Given the description of an element on the screen output the (x, y) to click on. 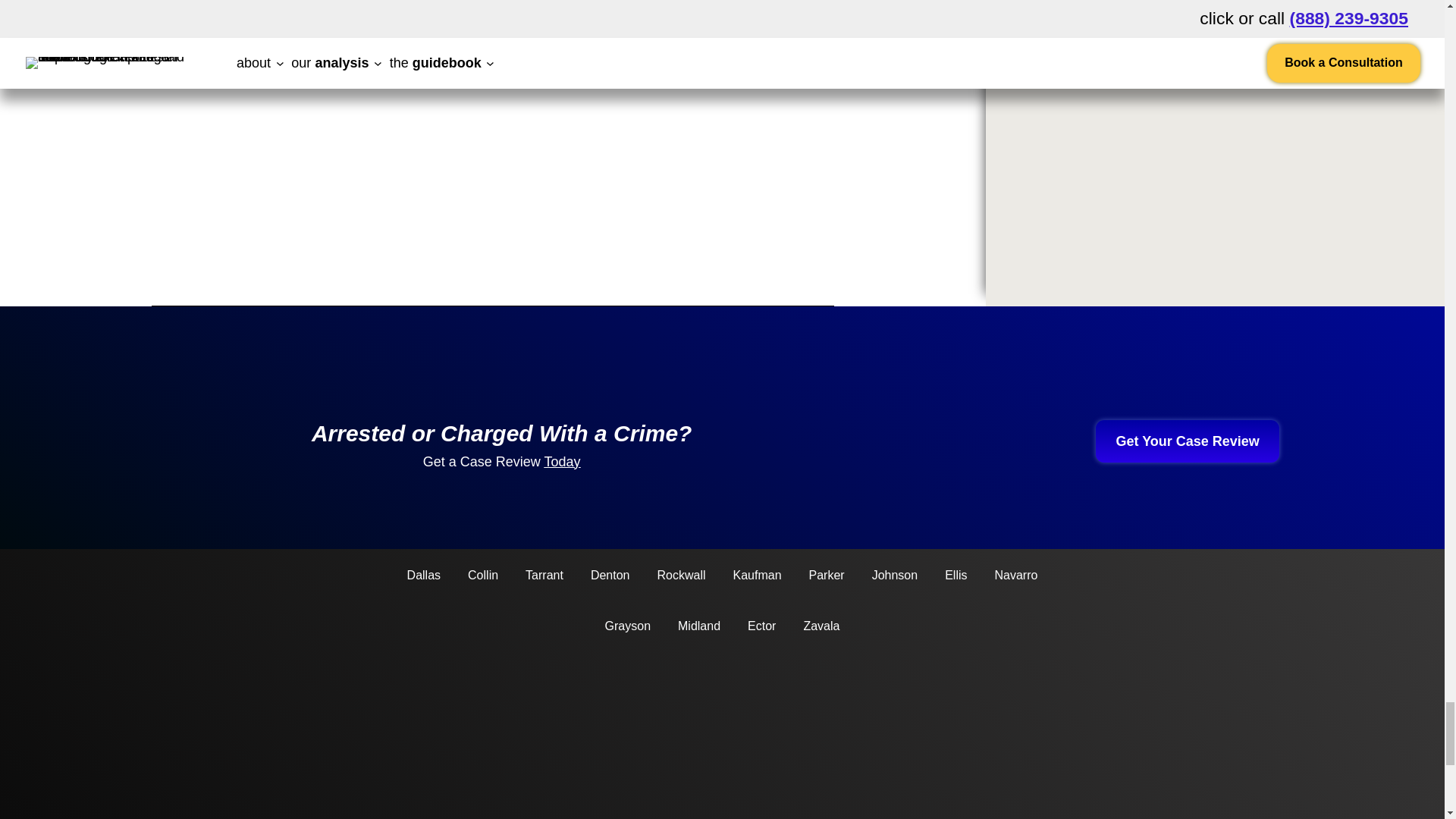
Denton Criminal Defense Attorneys (610, 575)
Rockwall County Criminal Defense Attorneys (680, 575)
Dallas Criminal Defense Attorneys (424, 575)
Parker County Criminal Defense Attorneys (826, 575)
Kaufman County Criminal Defense Attorneys (756, 575)
Zavala County Criminal Defense Attorneys (821, 626)
Collin County Criminal Defense Attorneys (482, 575)
Tarrant County Criminal Defense Attorneys (544, 575)
